Given the description of an element on the screen output the (x, y) to click on. 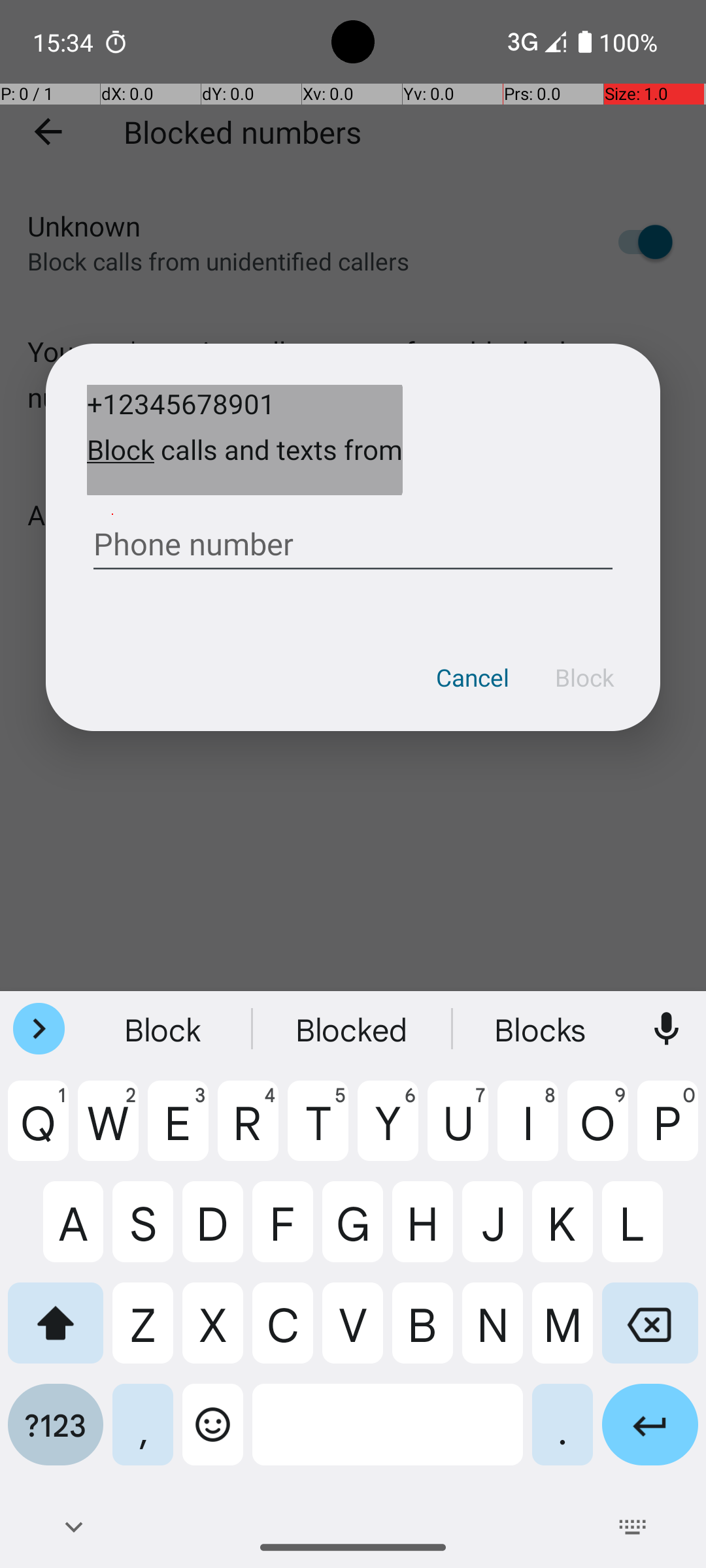
+12345678901
Block calls and texts from Element type: android.widget.TextView (244, 439)
Phone number Element type: android.widget.EditText (352, 538)
Block Element type: android.widget.Button (584, 686)
Switch input method Element type: android.widget.ImageView (632, 1526)
Open features menu Element type: android.widget.FrameLayout (39, 1028)
Blocked Element type: android.widget.FrameLayout (352, 1028)
Blocks Element type: android.widget.FrameLayout (541, 1028)
Voice input Element type: android.widget.FrameLayout (666, 1028)
Q Element type: android.widget.FrameLayout (38, 1130)
E Element type: android.widget.FrameLayout (178, 1130)
R Element type: android.widget.FrameLayout (248, 1130)
Y Element type: android.widget.FrameLayout (387, 1130)
U Element type: android.widget.FrameLayout (457, 1130)
I Element type: android.widget.FrameLayout (527, 1130)
O Element type: android.widget.FrameLayout (597, 1130)
P Element type: android.widget.FrameLayout (667, 1130)
A Element type: android.widget.FrameLayout (55, 1231)
D Element type: android.widget.FrameLayout (212, 1231)
G Element type: android.widget.FrameLayout (352, 1231)
H Element type: android.widget.FrameLayout (422, 1231)
J Element type: android.widget.FrameLayout (492, 1231)
K Element type: android.widget.FrameLayout (562, 1231)
L Element type: android.widget.FrameLayout (649, 1231)
Shift Element type: android.widget.FrameLayout (55, 1332)
Z Element type: android.widget.FrameLayout (142, 1332)
X Element type: android.widget.FrameLayout (212, 1332)
C Element type: android.widget.FrameLayout (282, 1332)
V Element type: android.widget.FrameLayout (352, 1332)
B Element type: android.widget.FrameLayout (422, 1332)
N Element type: android.widget.FrameLayout (492, 1332)
Symbol keyboard Element type: android.widget.FrameLayout (55, 1434)
, Element type: android.widget.FrameLayout (142, 1434)
Emoji button Element type: android.widget.FrameLayout (212, 1434)
Space Element type: android.widget.FrameLayout (387, 1434)
. Element type: android.widget.FrameLayout (562, 1434)
Enter Element type: android.widget.FrameLayout (649, 1434)
